Given the description of an element on the screen output the (x, y) to click on. 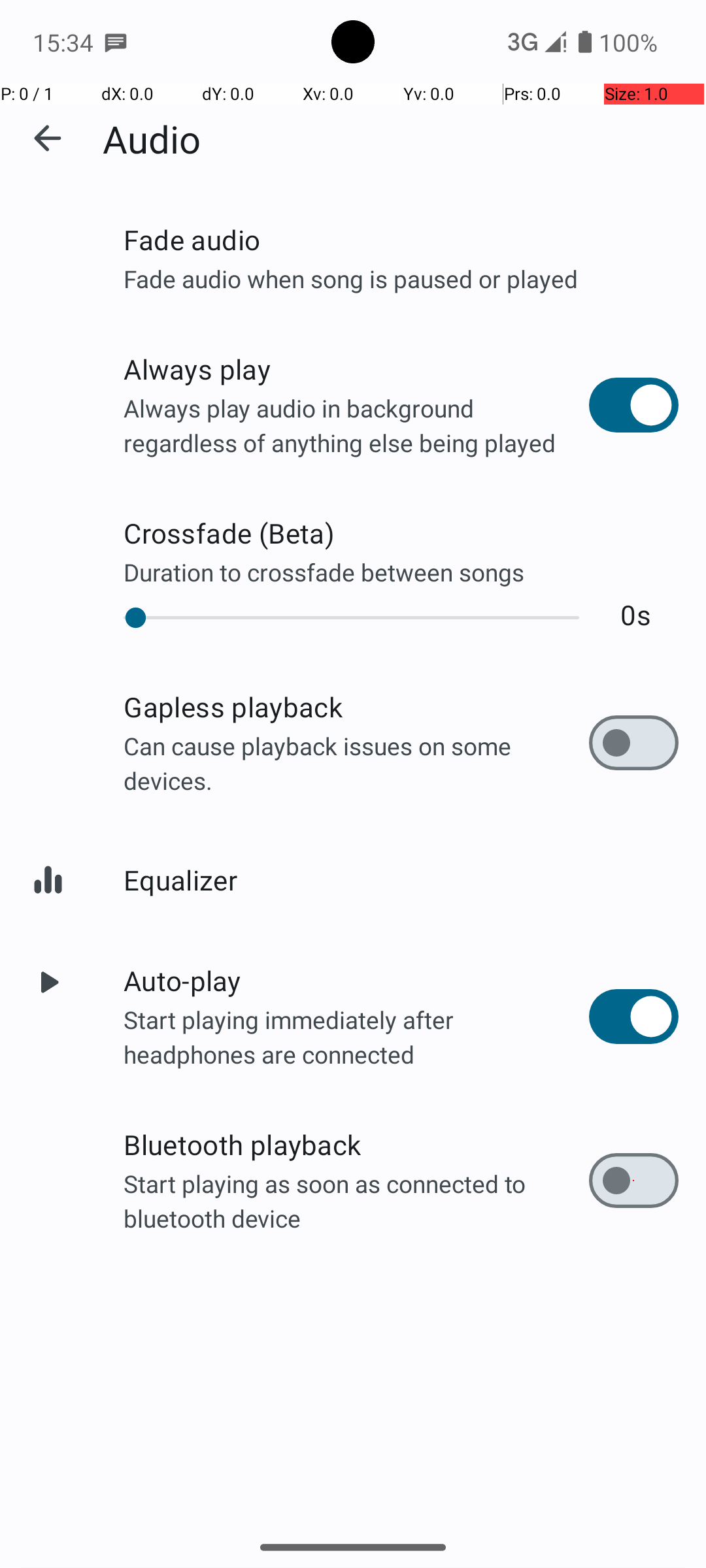
Fade audio Element type: android.widget.TextView (400, 239)
Fade audio when song is paused or played Element type: android.widget.TextView (400, 278)
Always play Element type: android.widget.TextView (355, 368)
Always play audio in background regardless of anything else being played Element type: android.widget.TextView (355, 424)
Crossfade (Beta) Element type: android.widget.TextView (400, 532)
Duration to crossfade between songs Element type: android.widget.TextView (400, 571)
0s Element type: android.widget.TextView (635, 614)
Gapless playback Element type: android.widget.TextView (355, 706)
Can cause playback issues on some devices. Element type: android.widget.TextView (355, 762)
Equalizer Element type: android.widget.TextView (400, 879)
Auto-play Element type: android.widget.TextView (355, 979)
Start playing immediately after headphones are connected Element type: android.widget.TextView (355, 1036)
Bluetooth playback Element type: android.widget.TextView (355, 1143)
Start playing as soon as connected to bluetooth device Element type: android.widget.TextView (355, 1200)
